Given the description of an element on the screen output the (x, y) to click on. 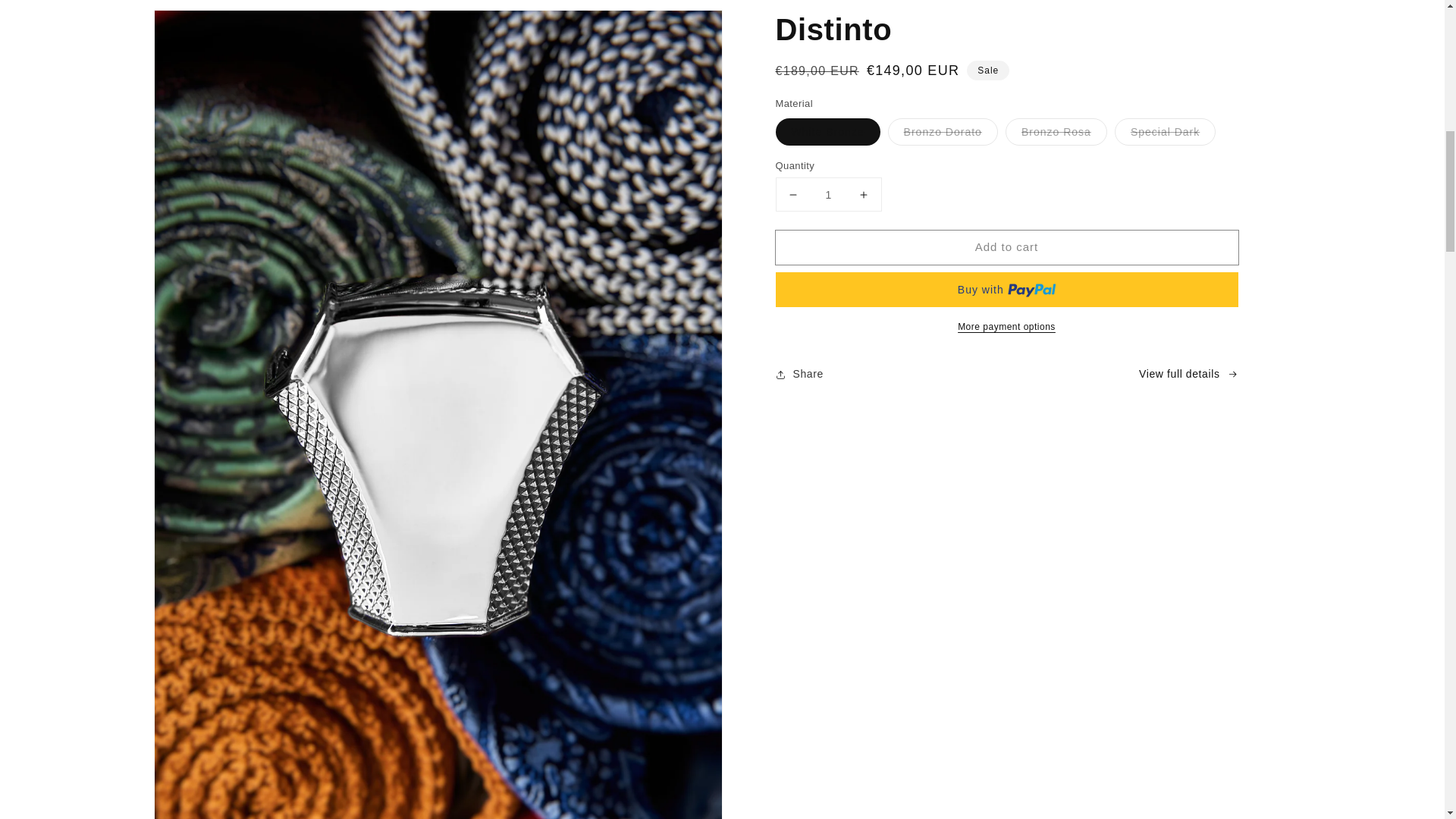
More payment options (1005, 326)
Add to cart (1005, 247)
Decrease quantity for Distinto (793, 194)
1 (827, 194)
Skip to product information (198, 26)
Increase quantity for Distinto (862, 194)
